Given the description of an element on the screen output the (x, y) to click on. 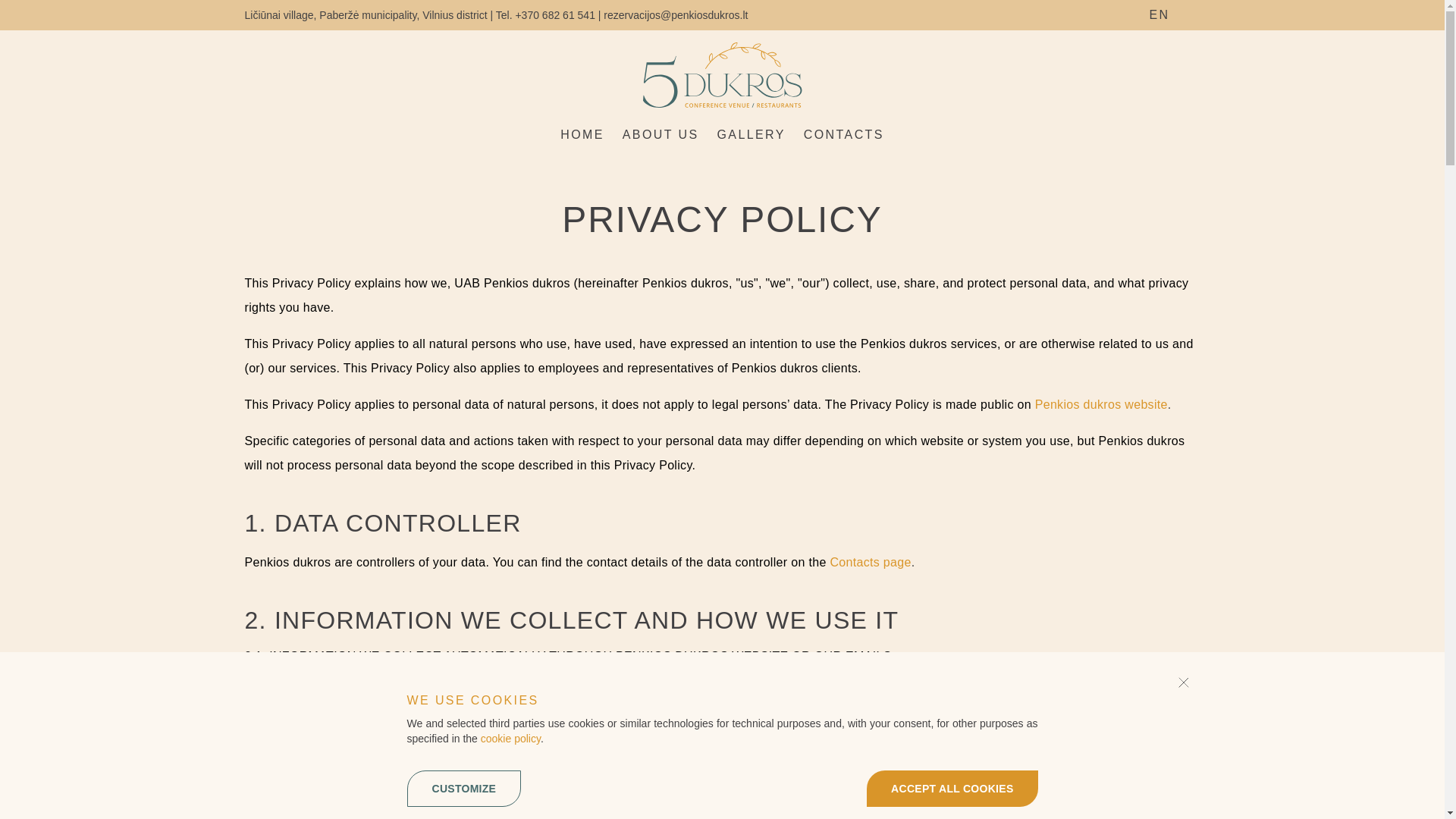
ABOUT US (660, 135)
Penkios dukros website (1101, 404)
cookie policy (510, 738)
Contacts page (870, 562)
CONTACTS (843, 135)
HOME (582, 135)
here (1039, 713)
CUSTOMIZE (463, 788)
GALLERY (750, 135)
ACCEPT ALL COOKIES (951, 788)
